Given the description of an element on the screen output the (x, y) to click on. 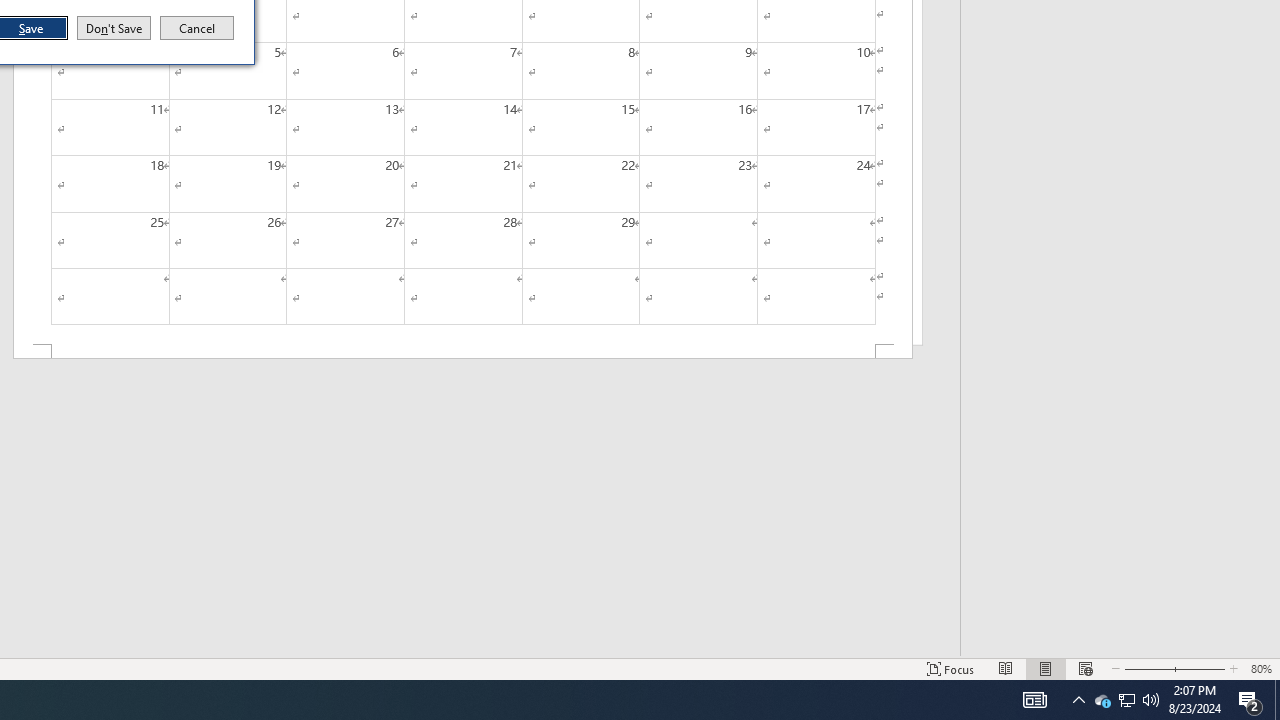
User Promoted Notification Area (1126, 699)
Don't Save (113, 27)
